Given the description of an element on the screen output the (x, y) to click on. 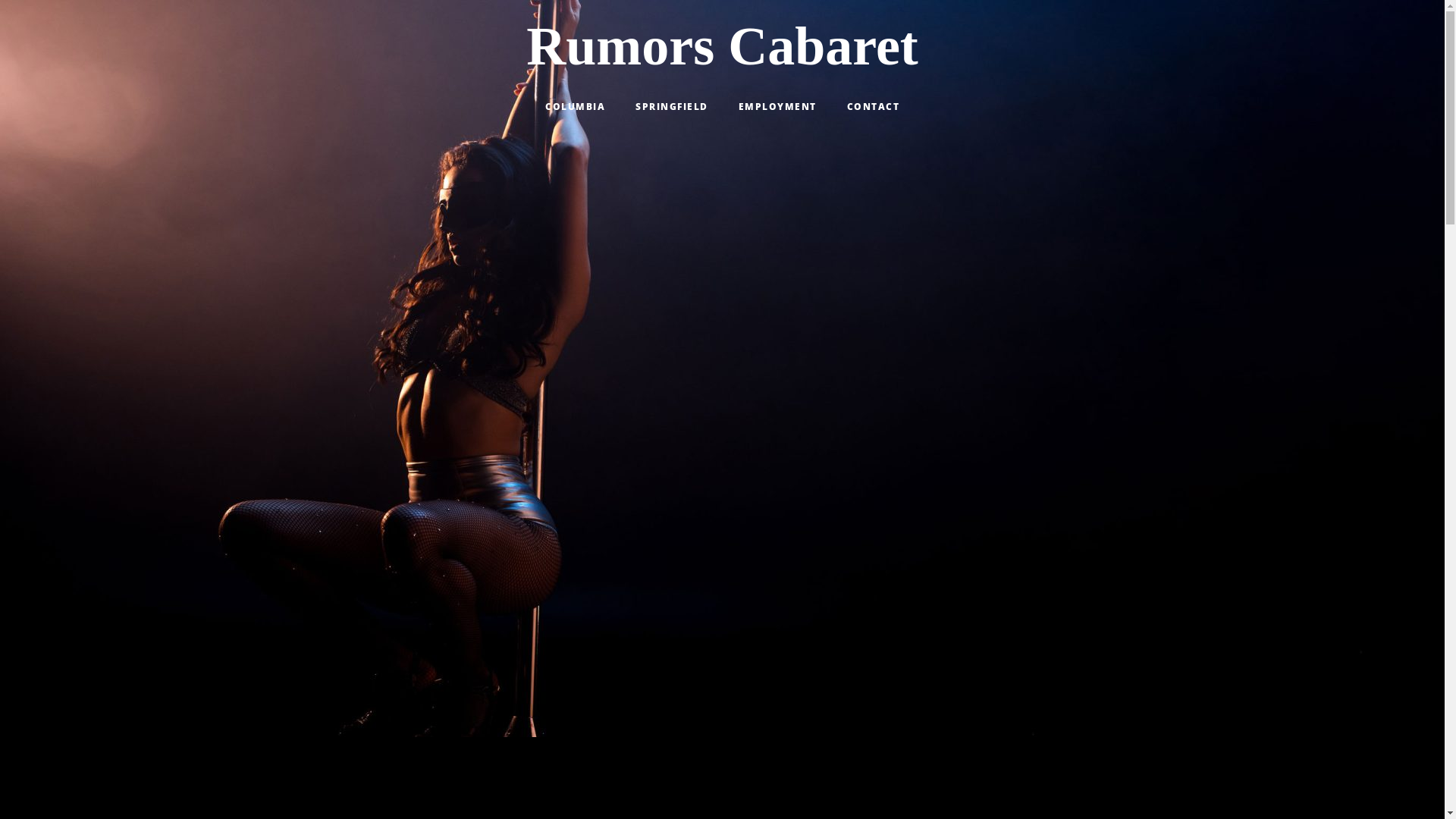
SPRINGFIELD Element type: text (671, 106)
COLUMBIA Element type: text (575, 106)
CONTACT Element type: text (872, 106)
Rumors Cabaret Element type: text (722, 46)
EMPLOYMENT Element type: text (777, 106)
